Given the description of an element on the screen output the (x, y) to click on. 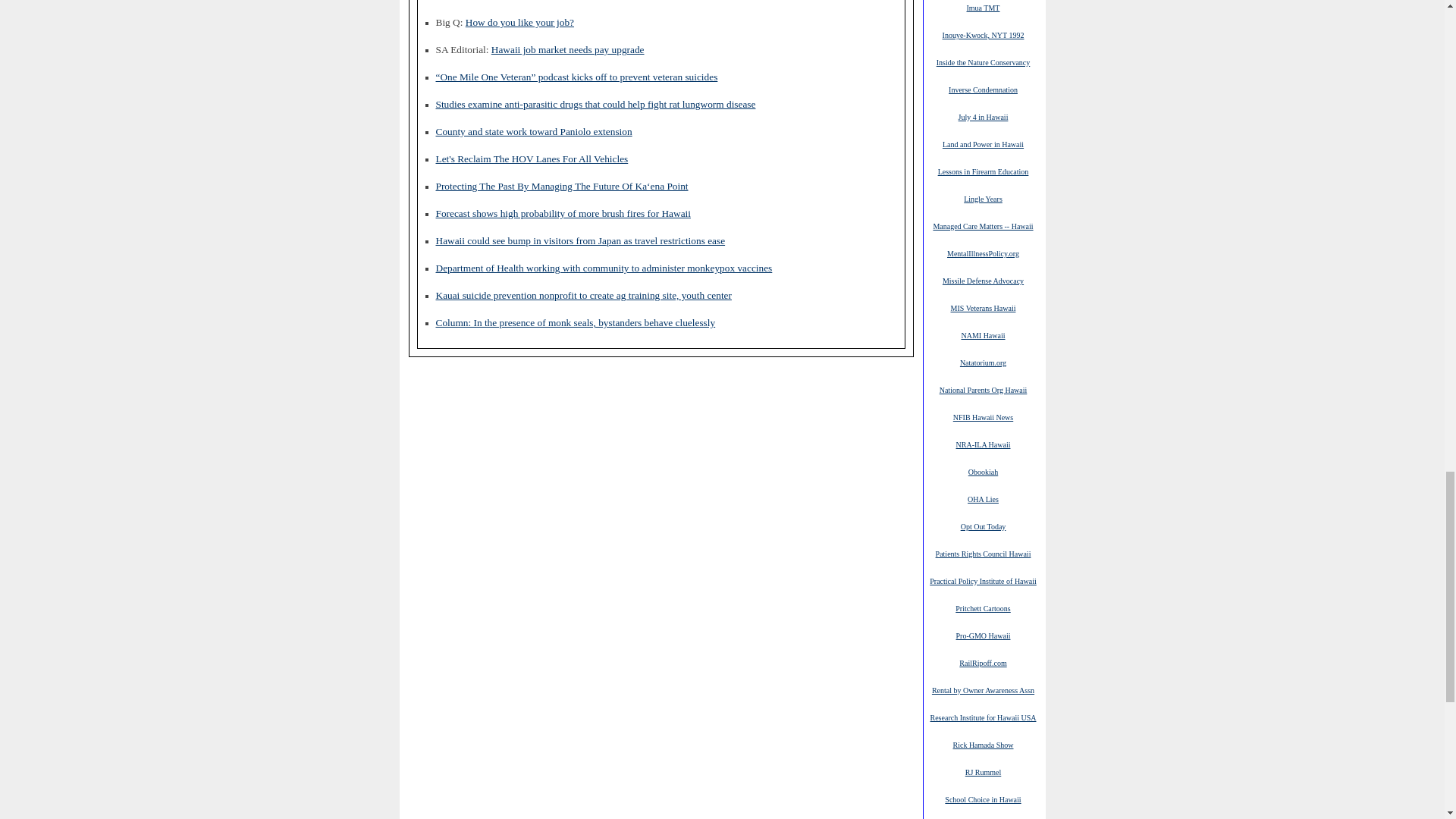
How do you like your job? (519, 21)
Hawaii job market needs pay upgrade (568, 49)
Let's Reclaim The HOV Lanes For All Vehicles (531, 158)
County and state work toward Paniolo extension (533, 131)
